Given the description of an element on the screen output the (x, y) to click on. 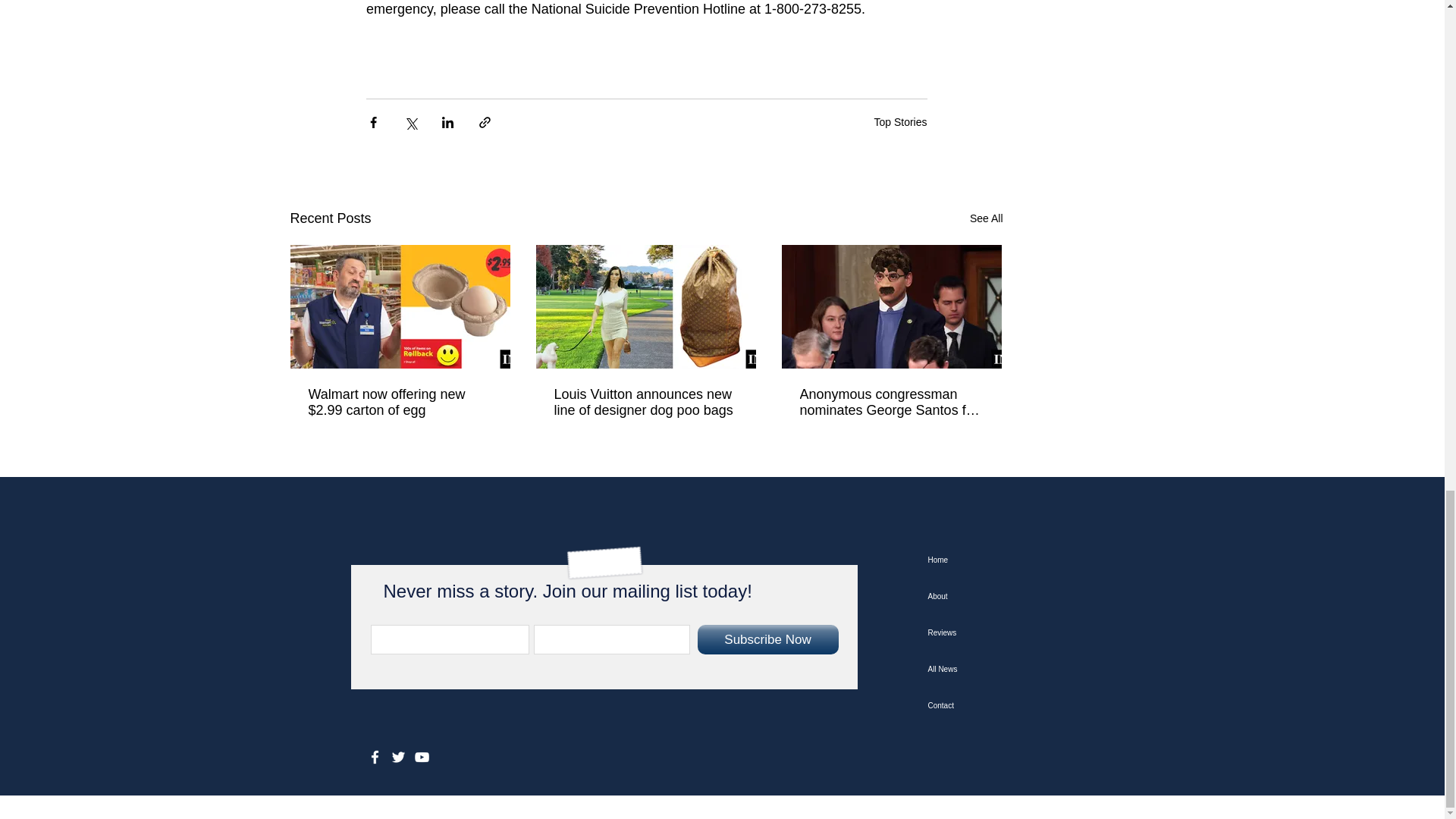
Top Stories (899, 121)
Louis Vuitton announces new line of designer dog poo bags (644, 402)
All News (1002, 669)
Reviews (1002, 633)
About (1002, 596)
Subscribe Now (767, 639)
Contact (1002, 705)
See All (986, 219)
Home (1002, 560)
